Given the description of an element on the screen output the (x, y) to click on. 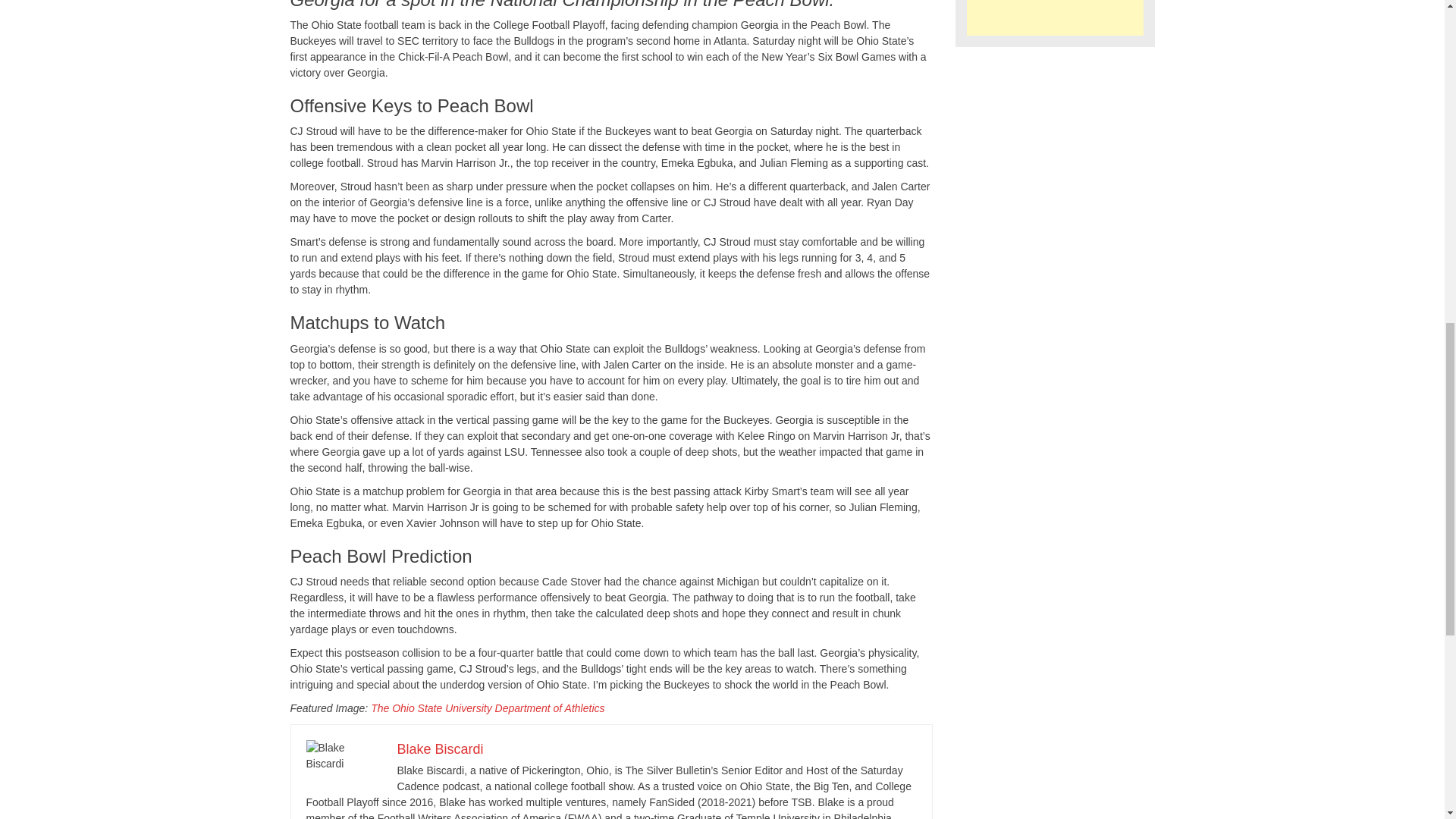
Blake Biscardi (440, 749)
Advertisement (1054, 18)
The Ohio State University Department of Athletics (487, 707)
